Given the description of an element on the screen output the (x, y) to click on. 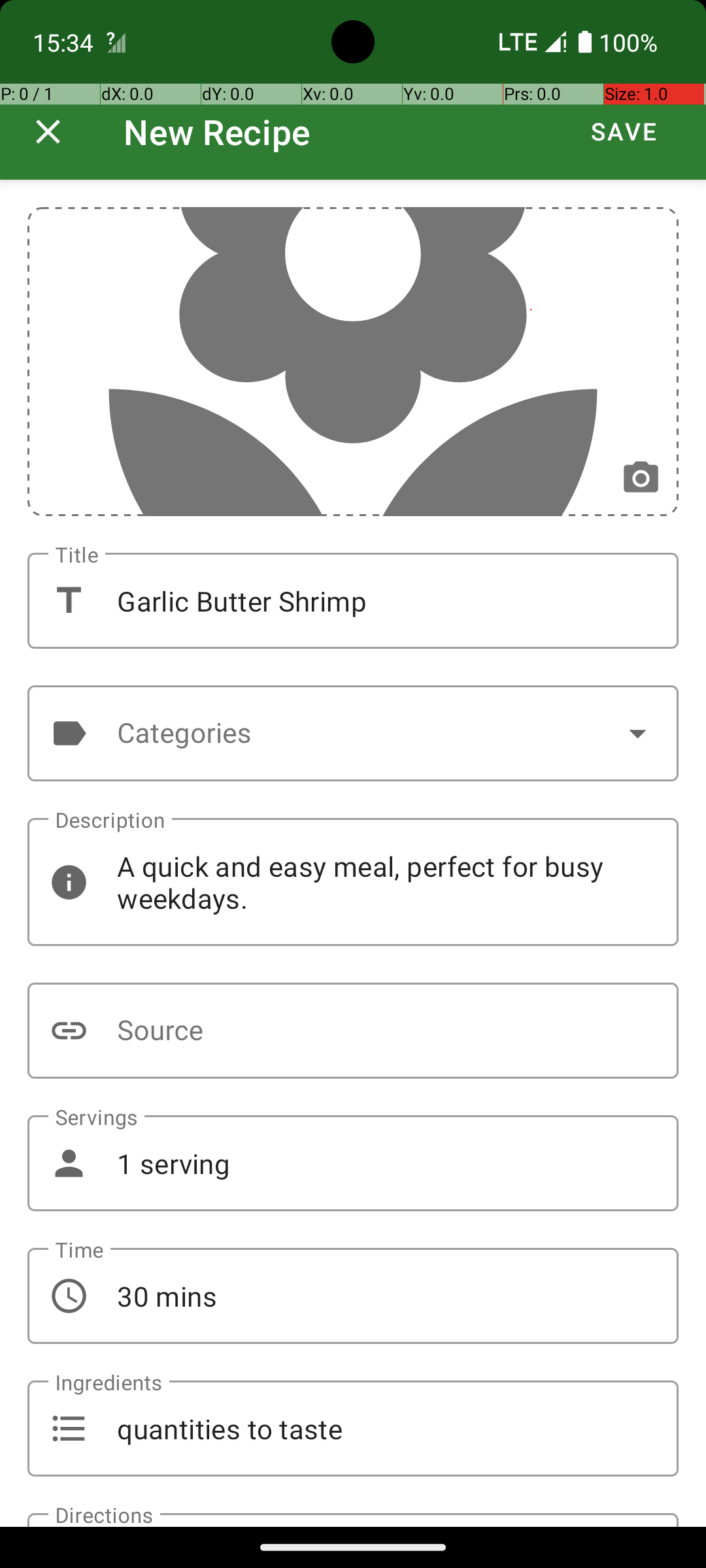
Sauté shrimp in butter and minced garlic until pink. Sprinkle with parsley and serve with lemon wedges. Garnish with fresh herbs for a more vibrant taste. Element type: android.widget.EditText (353, 1519)
